Given the description of an element on the screen output the (x, y) to click on. 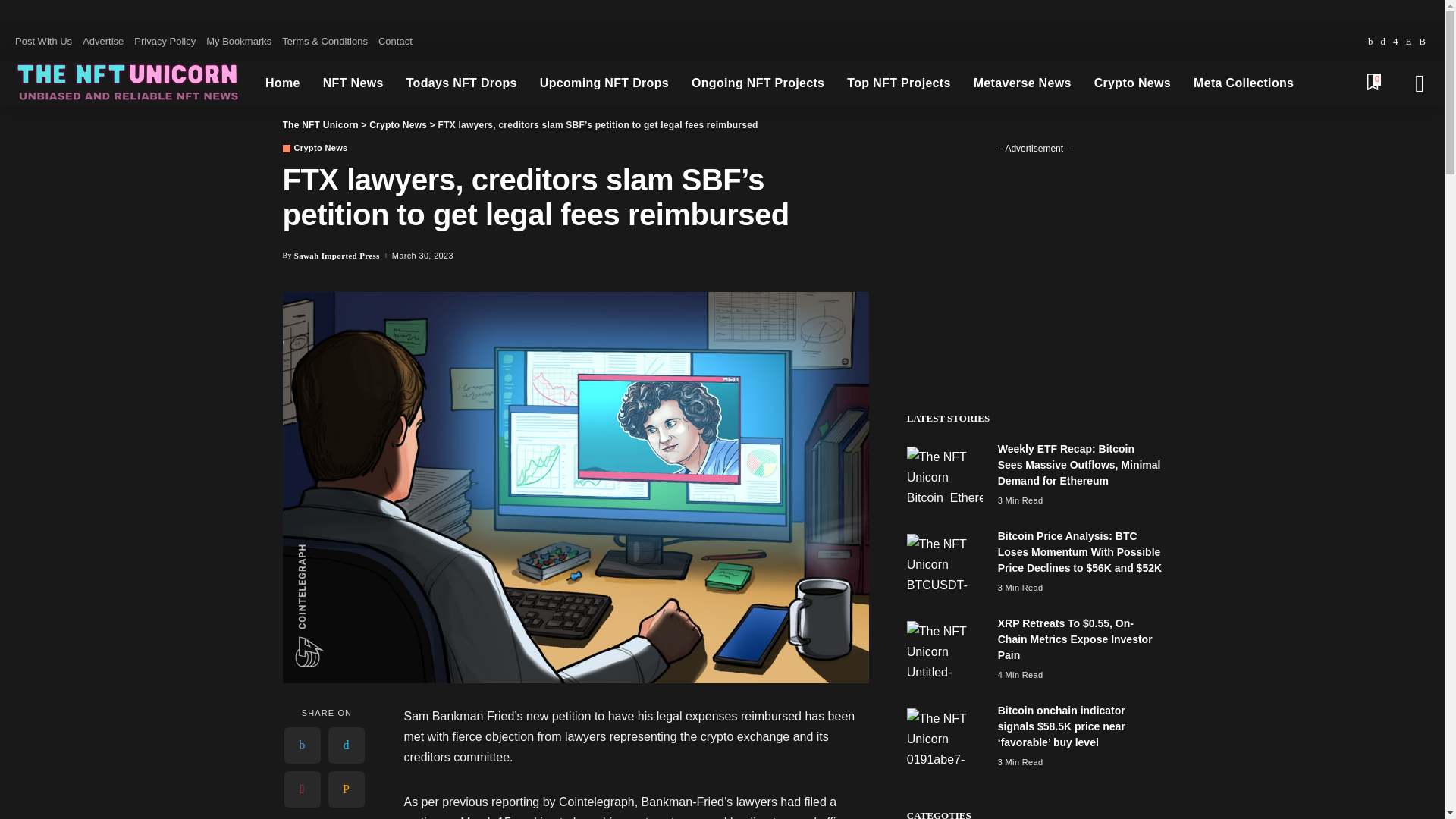
Home (282, 83)
NFT News (352, 83)
Upcoming NFT Drops (603, 83)
Todays NFT Drops (461, 83)
My Bookmarks (238, 42)
Advertise (103, 42)
Privacy Policy (164, 42)
Contact (394, 42)
Post With Us (45, 42)
